Given the description of an element on the screen output the (x, y) to click on. 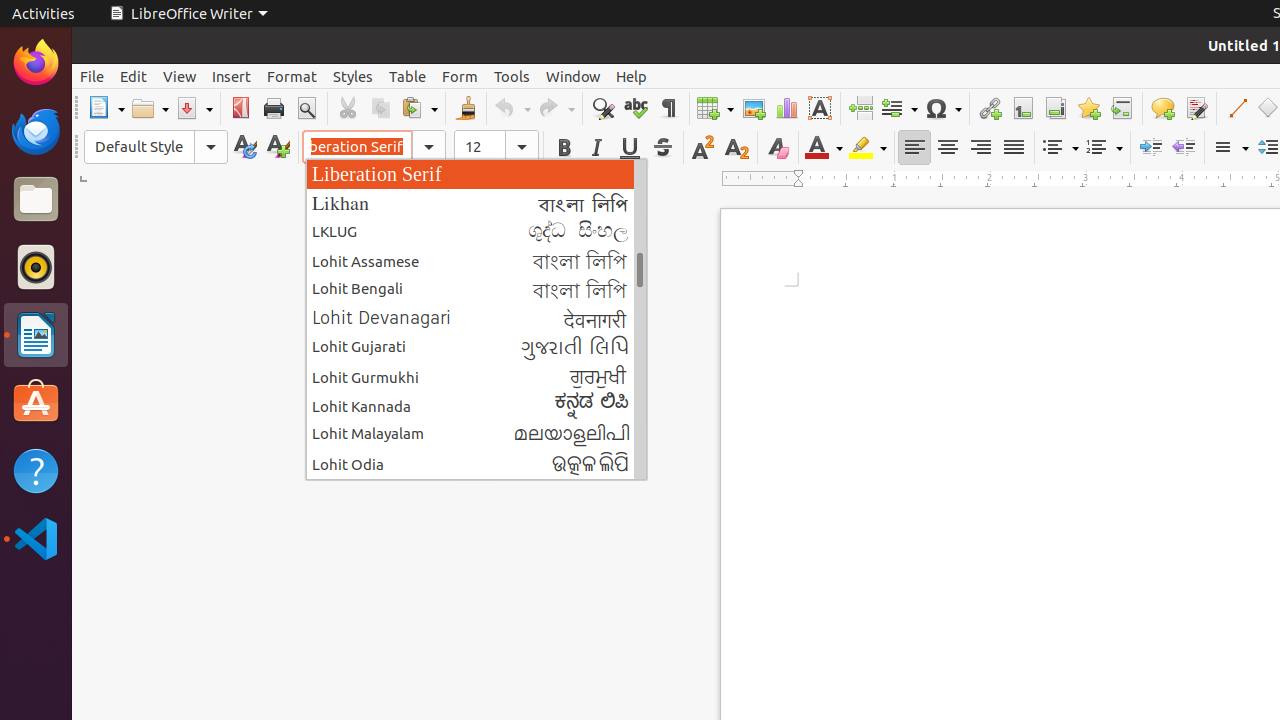
Track Changes Functions Element type: toggle-button (1195, 108)
Lohit Malayalam Element type: list-item (476, 434)
Find & Replace Element type: toggle-button (602, 108)
Lohit Kannada Element type: list-item (476, 405)
Lohit Gujarati Element type: list-item (476, 347)
